Given the description of an element on the screen output the (x, y) to click on. 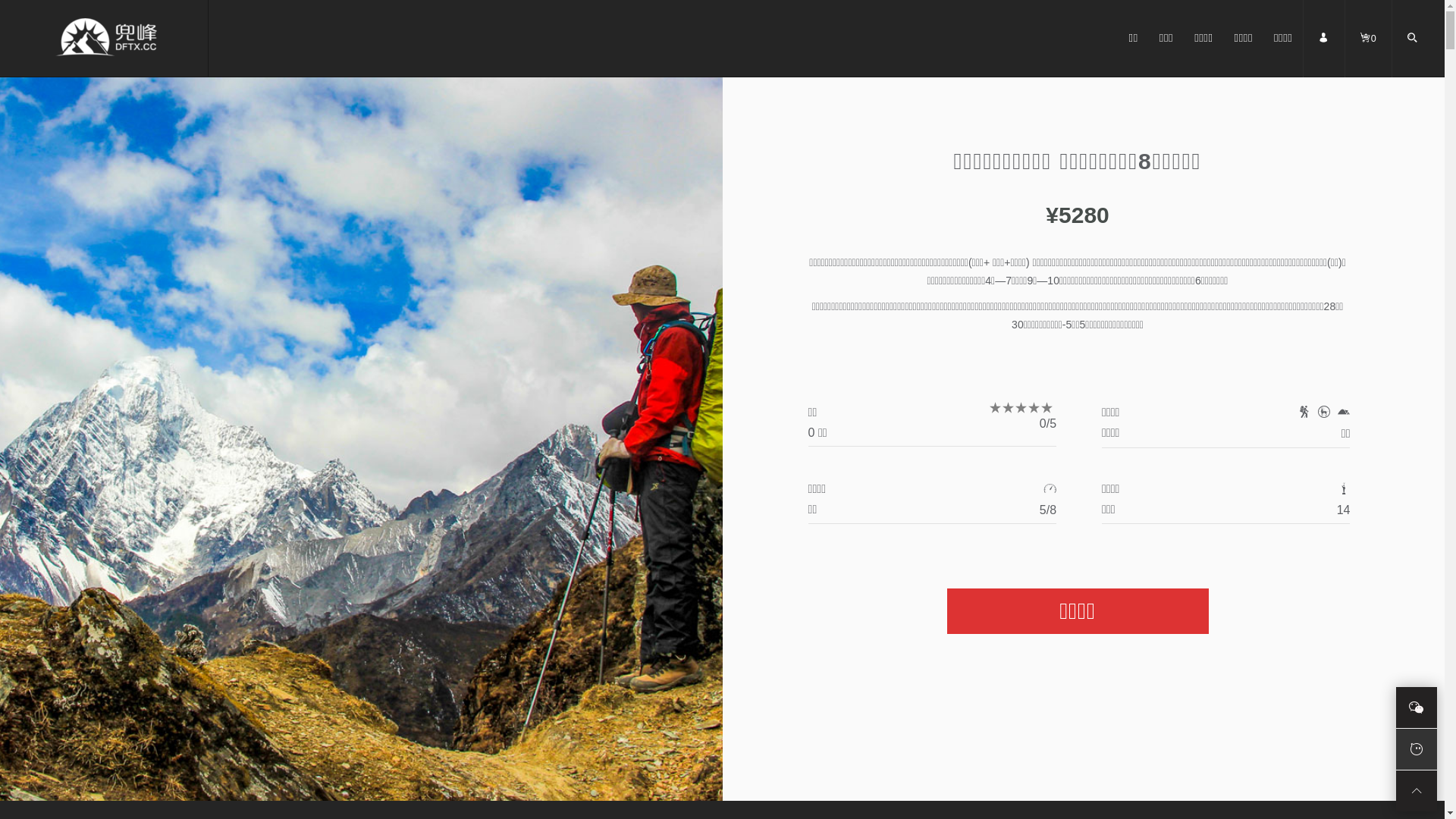
0 Element type: text (1368, 53)
